Given the description of an element on the screen output the (x, y) to click on. 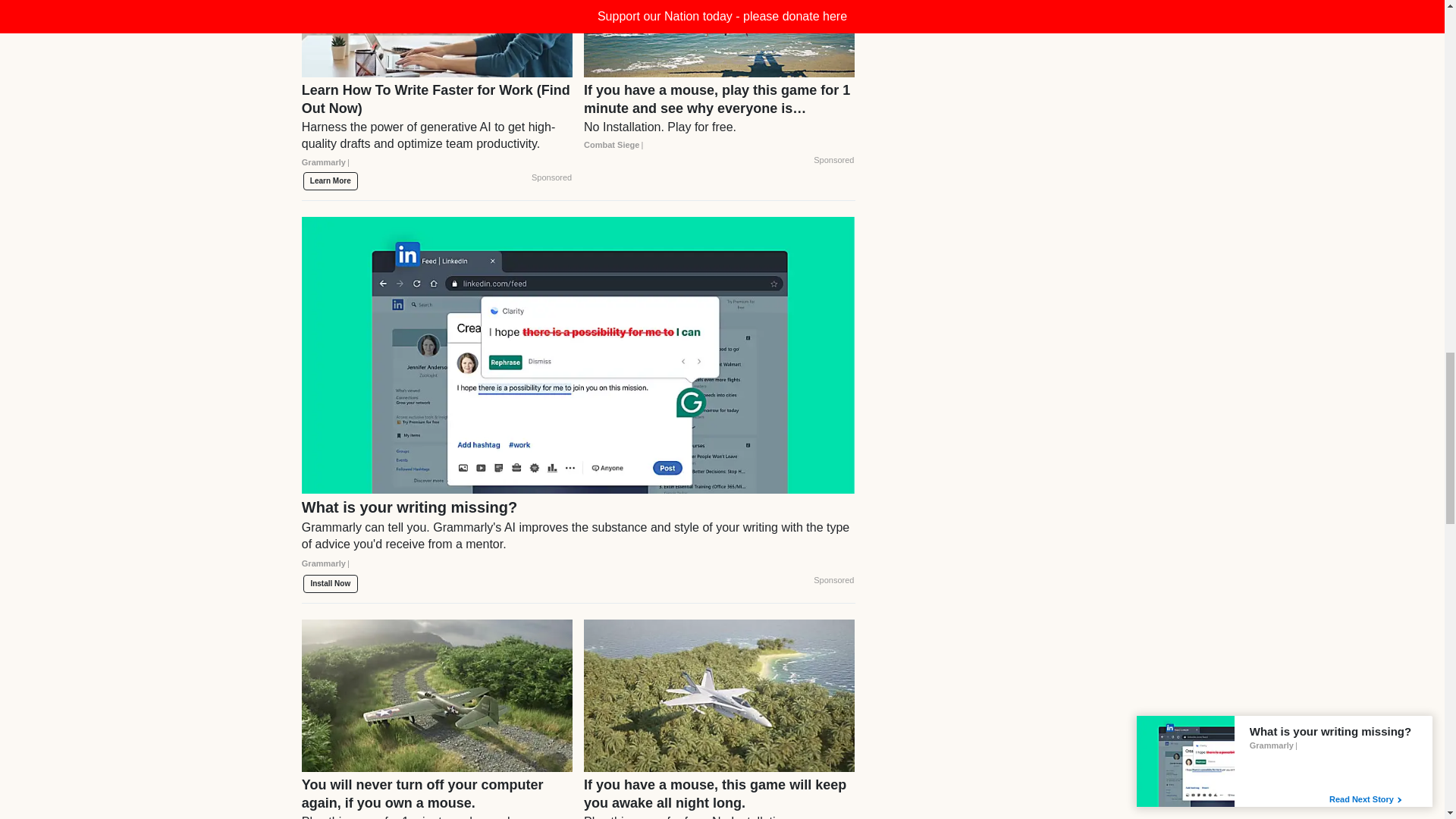
What is your writing missing? (578, 540)
Sponsored (551, 177)
Learn More (330, 180)
